Given the description of an element on the screen output the (x, y) to click on. 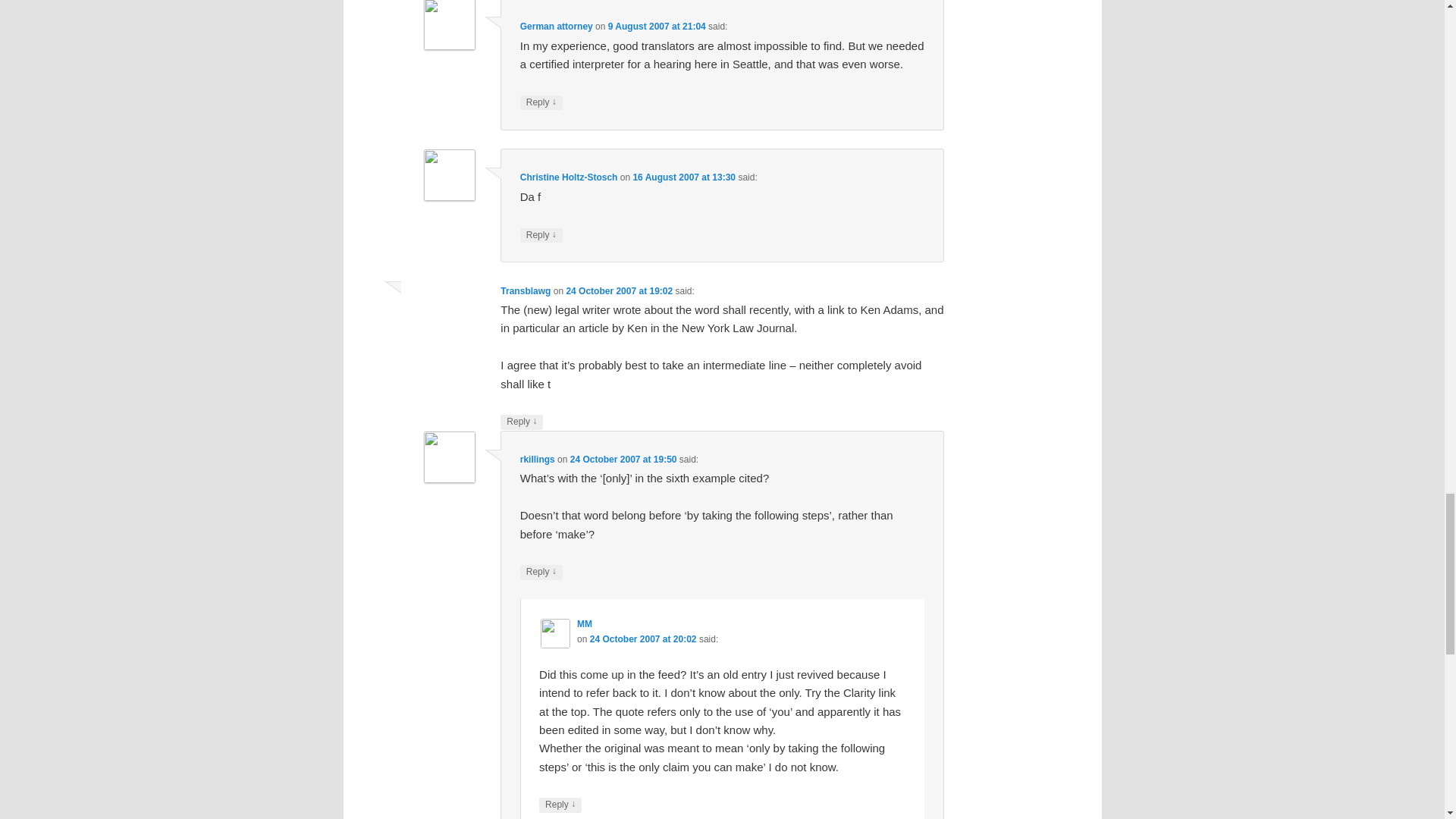
9 August 2007 at 21:04 (657, 26)
Christine Holtz-Stosch (568, 176)
German attorney (555, 26)
